Given the description of an element on the screen output the (x, y) to click on. 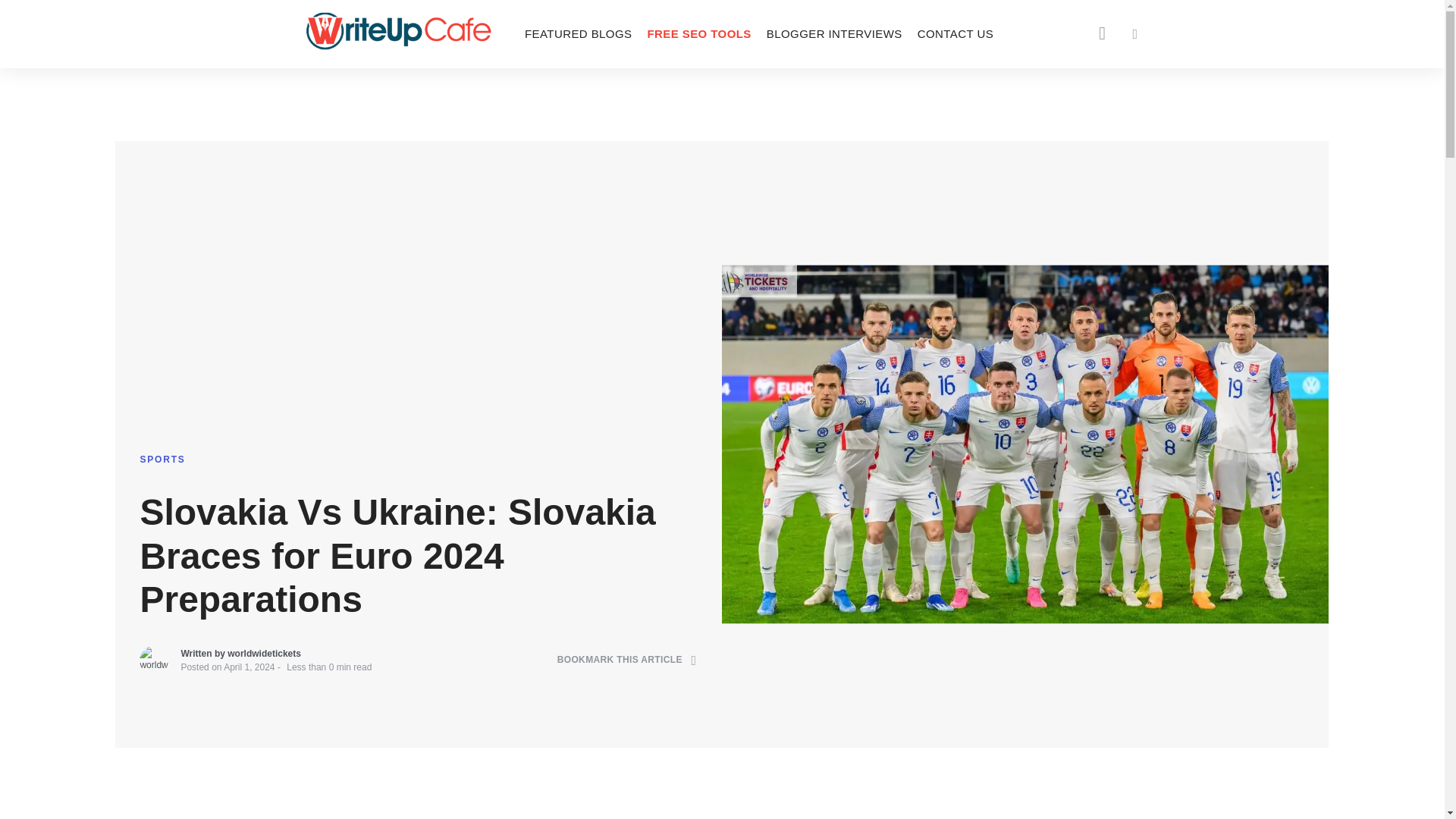
BLOGGER INTERVIEWS (834, 33)
FEATURED BLOGS (577, 33)
SPORTS (161, 459)
April 1, 2024 (249, 666)
FREE SEO TOOLS (698, 33)
CONTACT US (955, 33)
BOOKMARK THIS ARTICLE (627, 660)
CONTACT US (955, 33)
BLOGGER INTERVIEWS (834, 33)
FREE SEO TOOLS (698, 33)
